Given the description of an element on the screen output the (x, y) to click on. 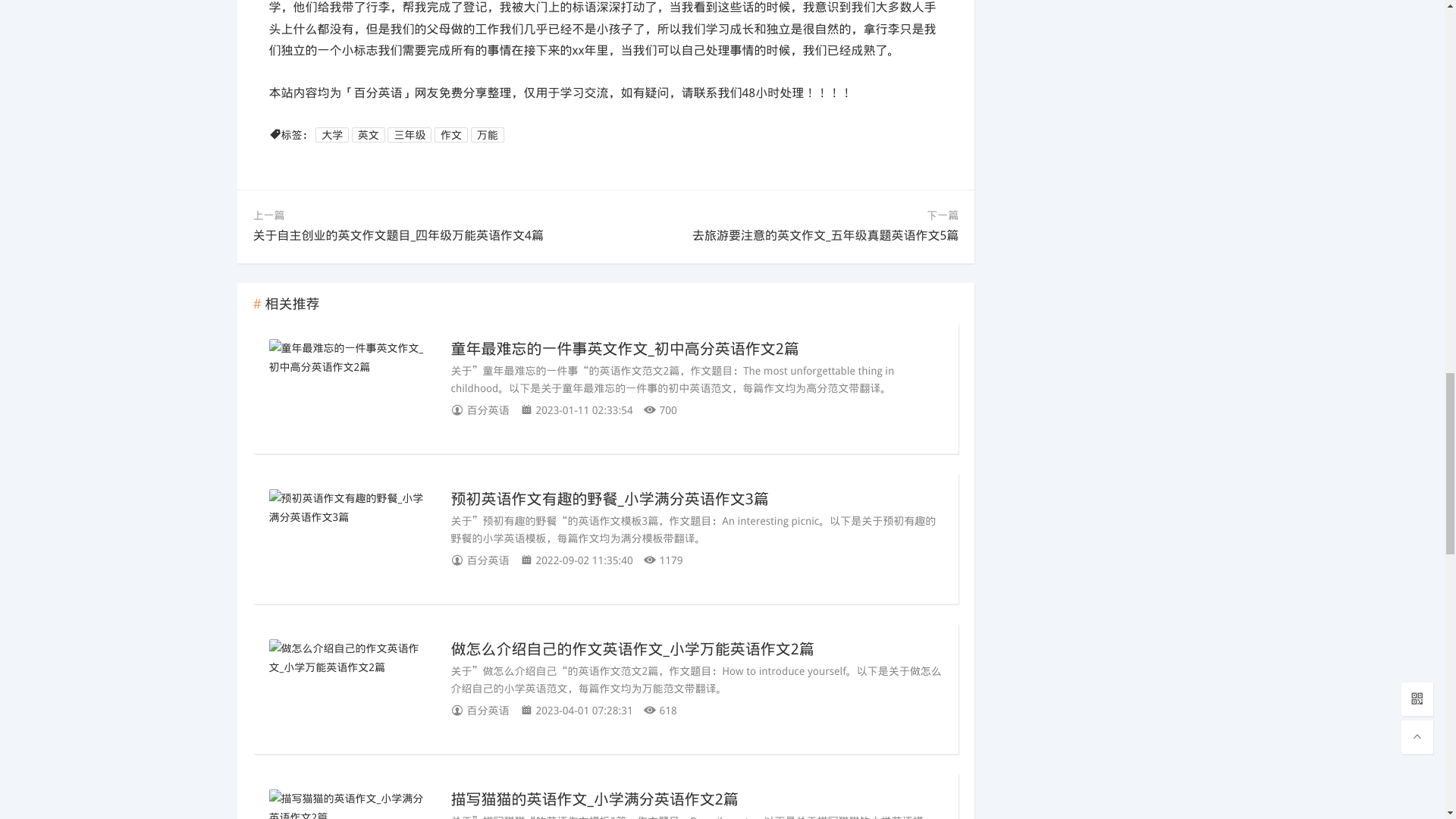
2022-09-02 11:35:40 (581, 559)
2023-01-11 02:33:54 (581, 409)
